Given the description of an element on the screen output the (x, y) to click on. 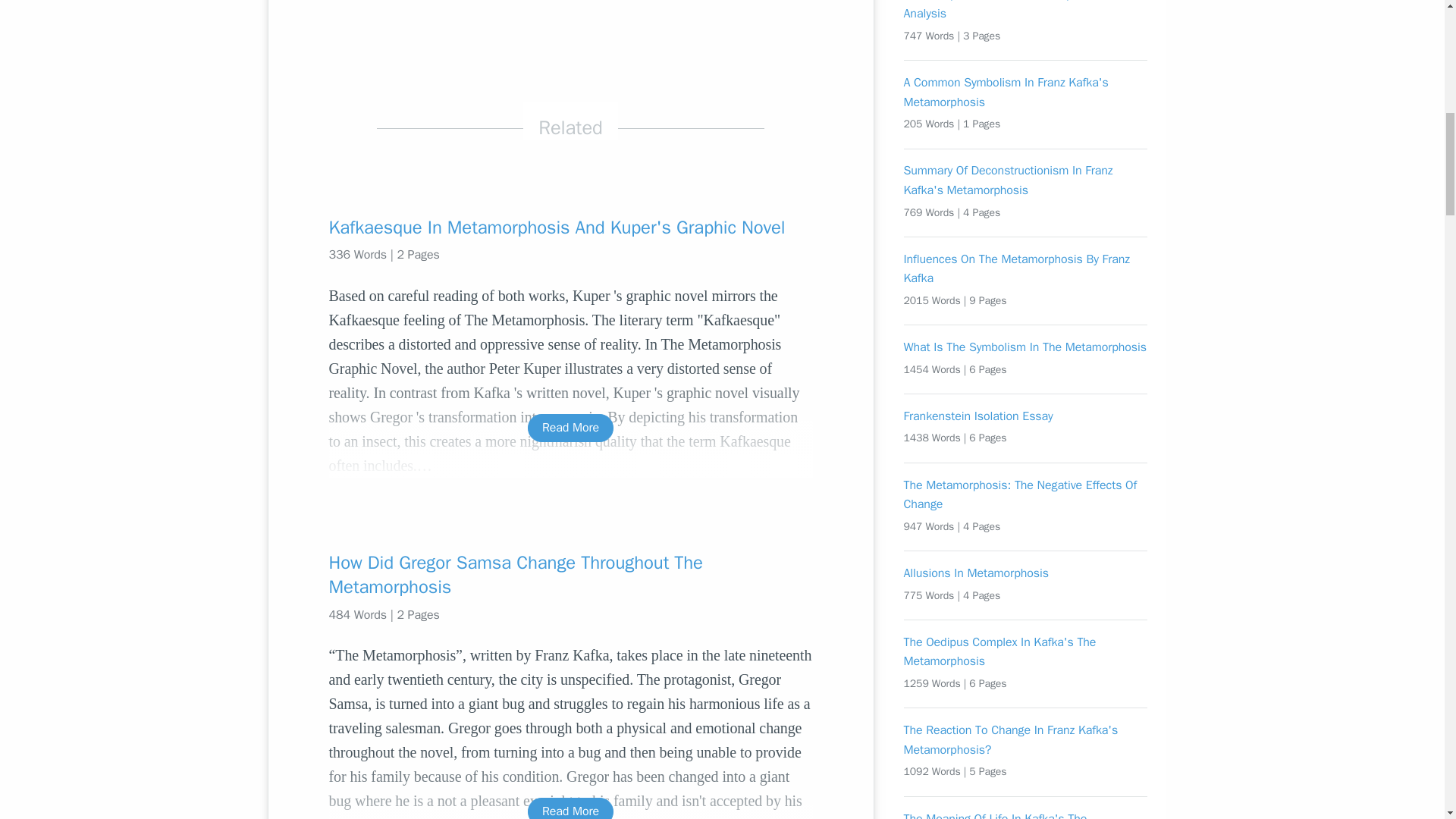
How Did Gregor Samsa Change Throughout The Metamorphosis (570, 574)
Read More (569, 428)
Read More (569, 808)
Kafkaesque In Metamorphosis And Kuper's Graphic Novel (570, 227)
